Given the description of an element on the screen output the (x, y) to click on. 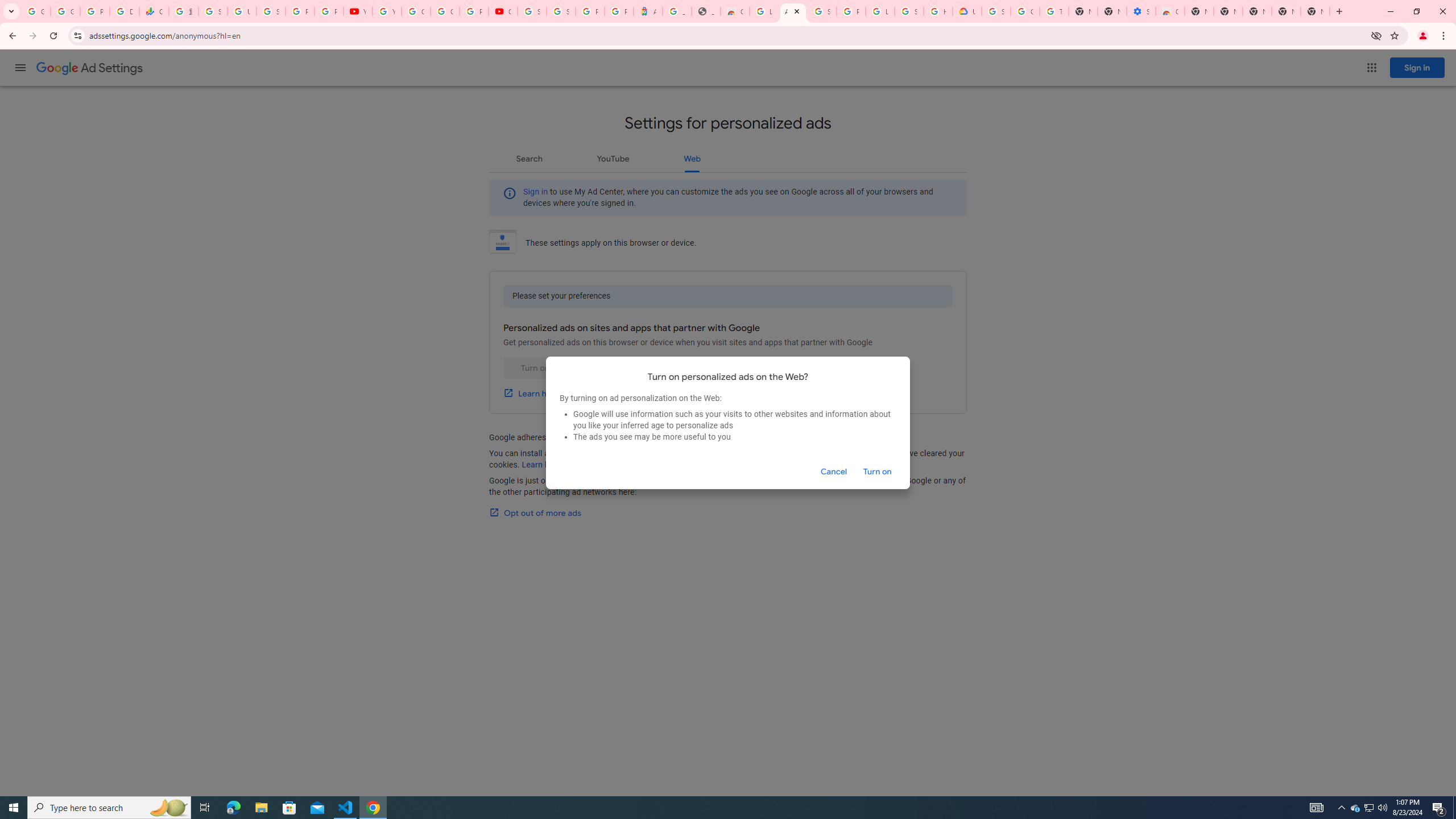
Sign in - Google Accounts (996, 11)
Chrome Web Store - Household (734, 11)
Currencies - Google Finance (153, 11)
Sign in - Google Accounts (821, 11)
